Given the description of an element on the screen output the (x, y) to click on. 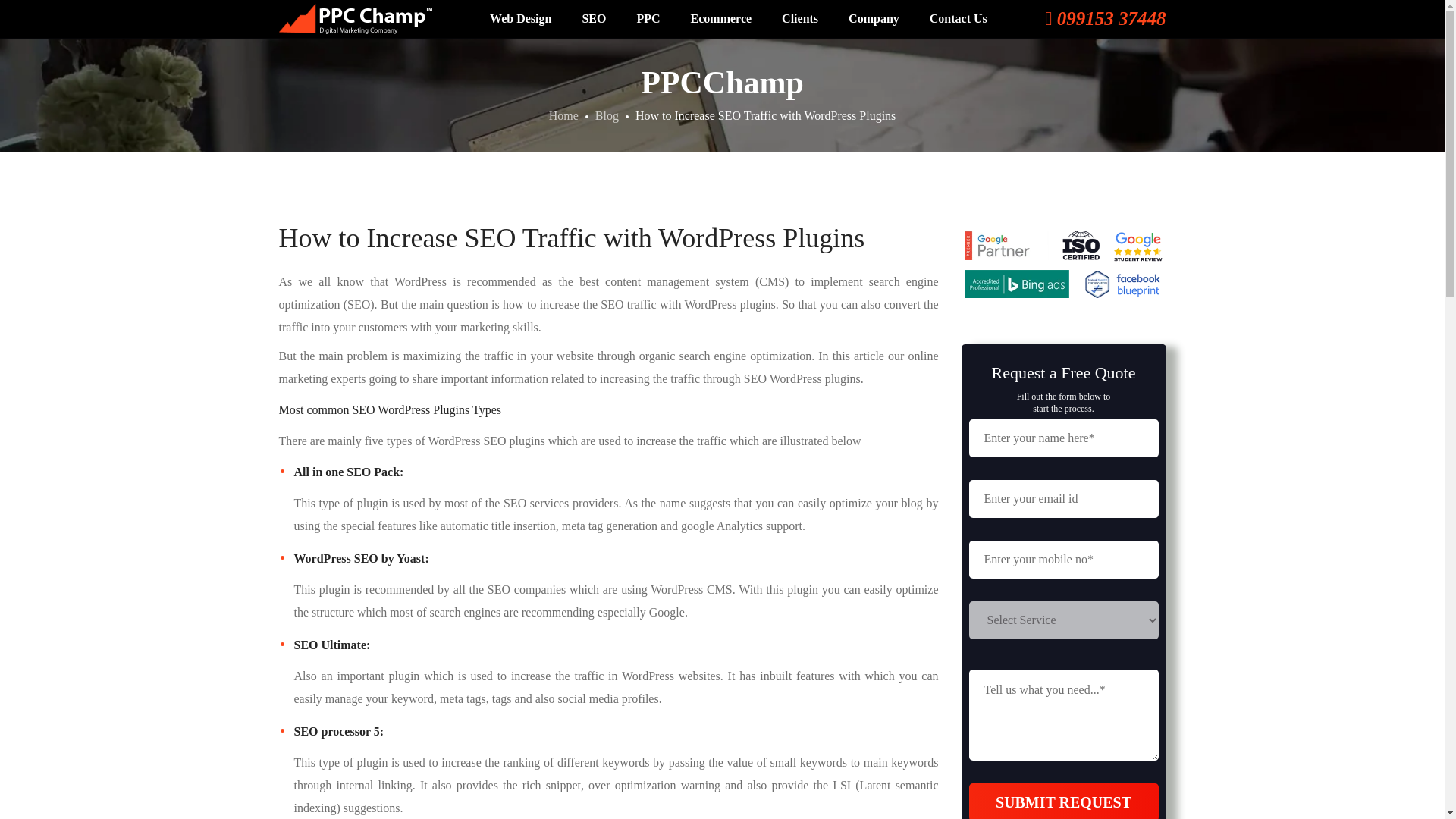
Clients (799, 18)
Submit Request (1063, 800)
Home (563, 115)
Web Design (520, 18)
Company (873, 18)
099153 37448 (1105, 22)
Blog (606, 115)
PPC (648, 18)
SEO (593, 18)
Submit Request (1063, 800)
